Given the description of an element on the screen output the (x, y) to click on. 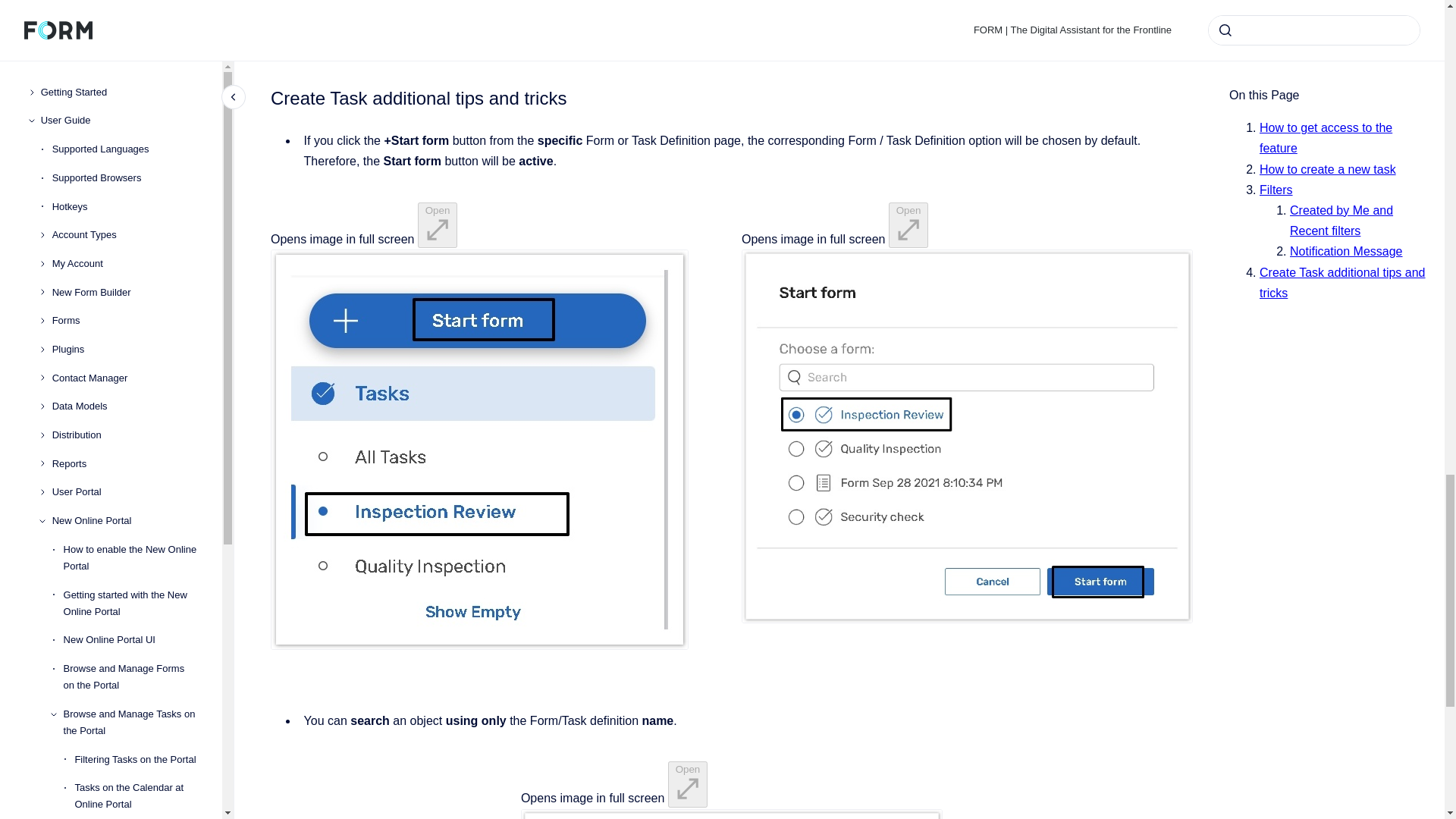
Copy to clipboard (263, 96)
